Given the description of an element on the screen output the (x, y) to click on. 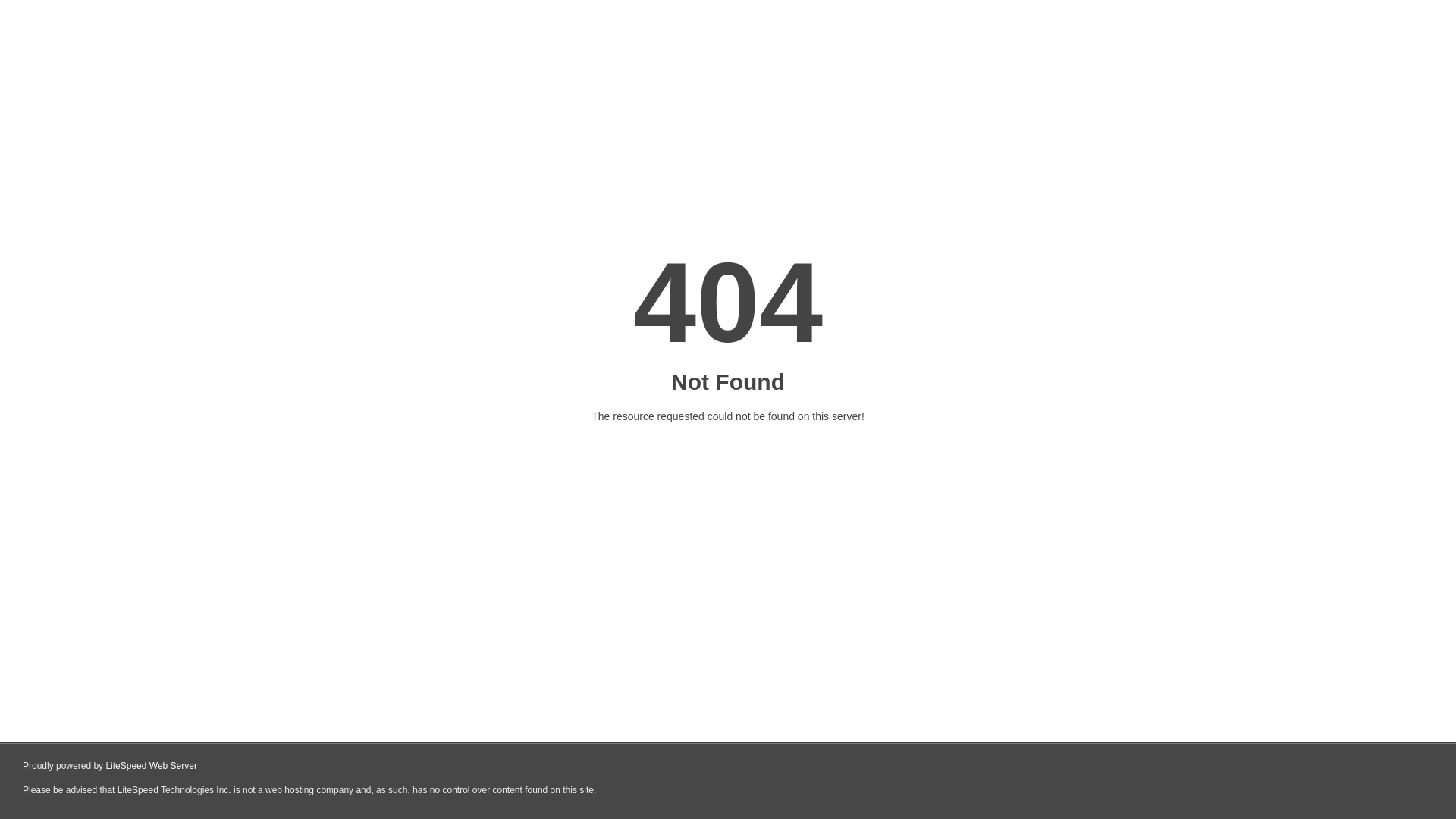
LiteSpeed Web Server Element type: text (151, 765)
